Given the description of an element on the screen output the (x, y) to click on. 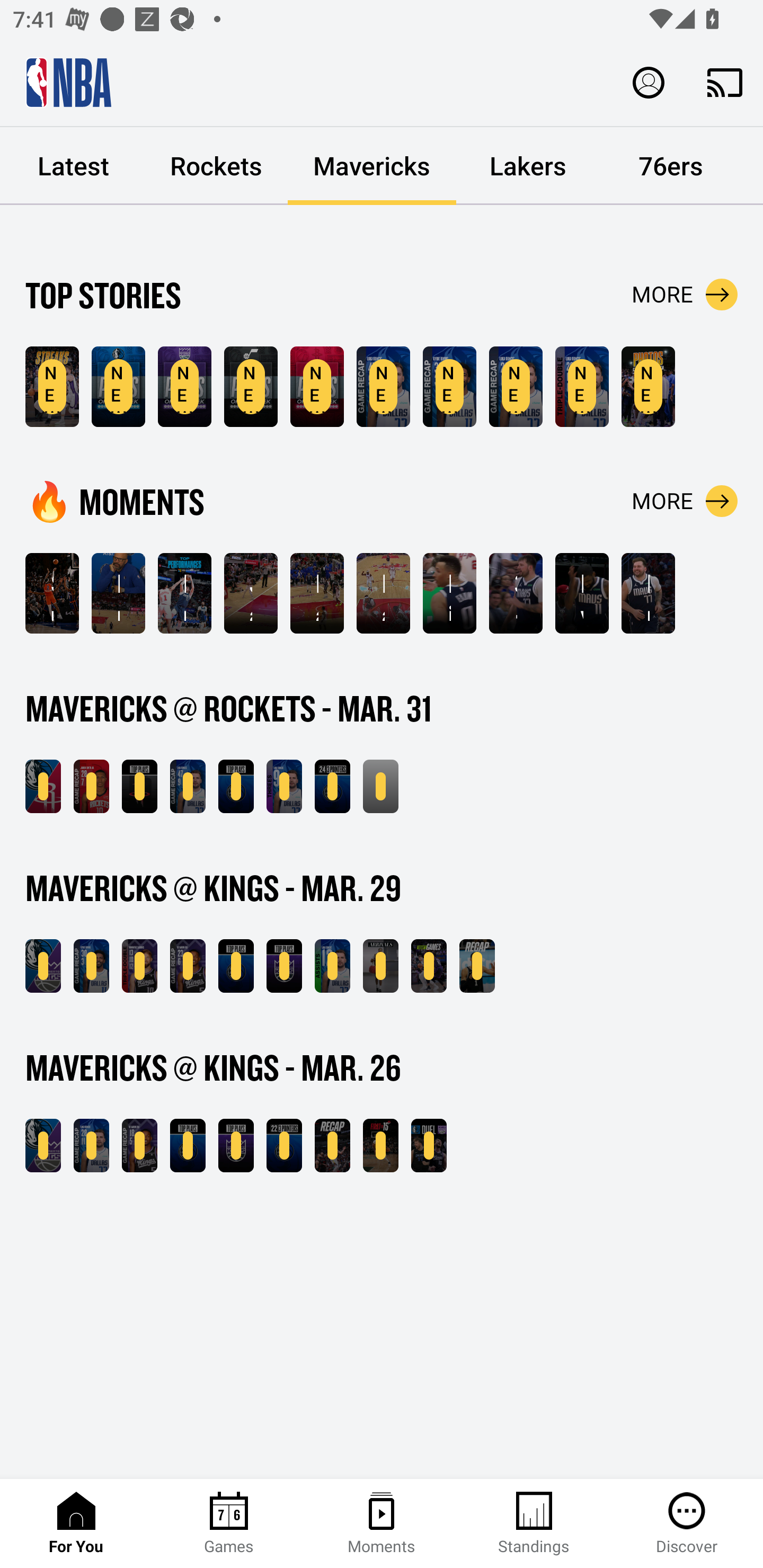
Cast. Disconnected (724, 82)
Profile (648, 81)
Latest (72, 166)
Rockets (215, 166)
Lakers (527, 166)
76ers (670, 166)
MORE (684, 294)
NEW Mavs Are Making Magic ⭐ (51, 386)
NEW DAL's Top Plays of Week 23 (117, 386)
NEW SAC's Top Plays of Week 23 (184, 386)
NEW UTA's Top Plays of Week 23 (250, 386)
NEW HOU's Top Plays of Week 23 (317, 386)
Highlights From Luka Doncic's 47-Point Game NEW (383, 386)
Highlights From Kyrie Irving's 30-Point Game NEW (449, 386)
Highlights From Luka Doncic's 28-Point Game NEW (515, 386)
Highlights from Luka Doncic's Triple-Double NEW (581, 386)
Relive Kyrie's Insane Lefty Game-Winner In 📸 NEW (648, 386)
MORE (684, 500)
Sunday's Top Plays In 30 Seconds ⏱ (51, 593)
Luka Creates Art When He Has The Ball 🎨 (117, 593)
Luka's 47-Point Outburst In Under A Minute (184, 593)
Jaden Hardy connects from behind the arc (250, 593)
Daniel Gafford with the swat (317, 593)
Daniel Gafford rises up for the dunk (383, 593)
Nice dish from Luka Doncic (449, 593)
3-pointer by Luka Doncic (515, 593)
Kyrie Irving drills the triple (581, 593)
Luka Pulls Out The Underhand Trick Shot 🤯 (648, 593)
DAL @ HOU HIGHLIGHTS NEW (43, 785)
HOU's Top Plays from DAL vs. HOU NEW (139, 785)
Highlights From Luka Doncic's 47-Point Game NEW (187, 785)
DAL's Top Plays from DAL vs. HOU NEW (236, 785)
Highlights From Luka Doncic's 9-3-pointer Game NEW (284, 785)
All 3-pointers from DAL's 24 3-pointer Night NEW (332, 785)
Sunday's Recap NEW (380, 785)
NEW DAL @ SAC HIGHLIGHTS (43, 965)
NEW Highlights From Kyrie Irving's 30-Point Game (91, 965)
NEW Highlights From De'Aaron Fox's 23-Point Game (187, 965)
NEW DAL's Top Plays from DAL vs. SAC (236, 965)
SAC's Top Plays from DAL vs. SAC NEW (284, 965)
Highlights From Luka Doncic's 12-Assist Game NEW (332, 965)
Friday Night Fashion 😎 NEW (380, 965)
Mavs-Kings Run It Back 👀 NEW (428, 965)
Friday's Recap NEW (477, 965)
NEW DAL @ SAC HIGHLIGHTS (43, 1145)
NEW Highlights From Luka Doncic's 28-Point Game (91, 1145)
NEW Highlights From De'Aaron Fox's 18-Point Game (139, 1145)
NEW DAL's Top Plays from DAL vs. SAC (187, 1145)
NEW SAC's Top Plays from DAL vs. SAC (236, 1145)
All 3's from DAL's 22 3-Pointer Night NEW (284, 1145)
Tuesday's Recap NEW (332, 1145)
First to 15 Mar. 26th NEW (380, 1145)
Battle Out West For TNT Nightcap 📺 NEW (428, 1145)
Games (228, 1523)
Moments (381, 1523)
Standings (533, 1523)
Discover (686, 1523)
